Given the description of an element on the screen output the (x, y) to click on. 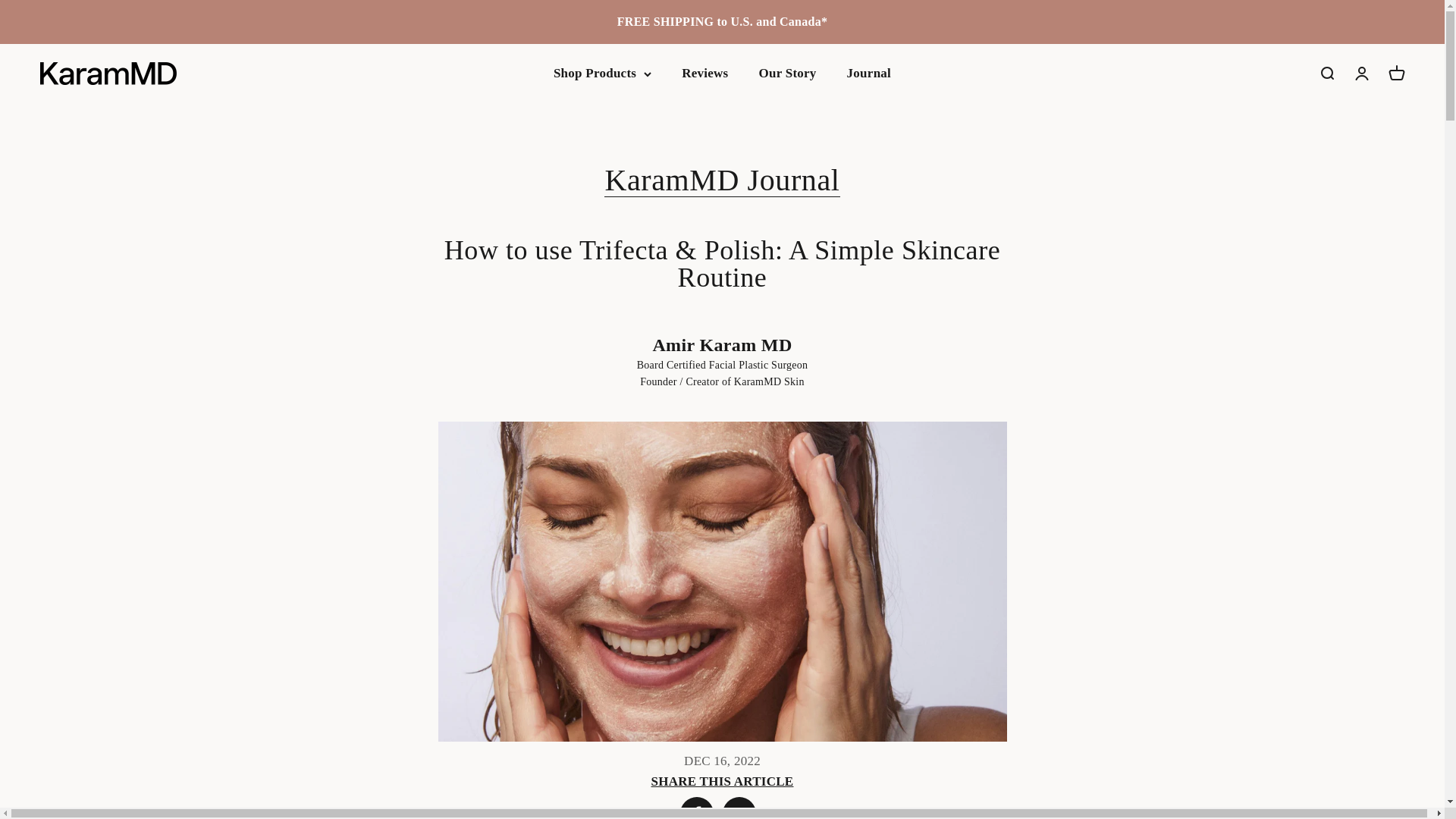
Journal (869, 73)
Reviews (704, 73)
Open cart (1396, 73)
Open search (1326, 73)
Our Story (786, 73)
KaramMD Skin (107, 73)
Open account page (1361, 73)
